Given the description of an element on the screen output the (x, y) to click on. 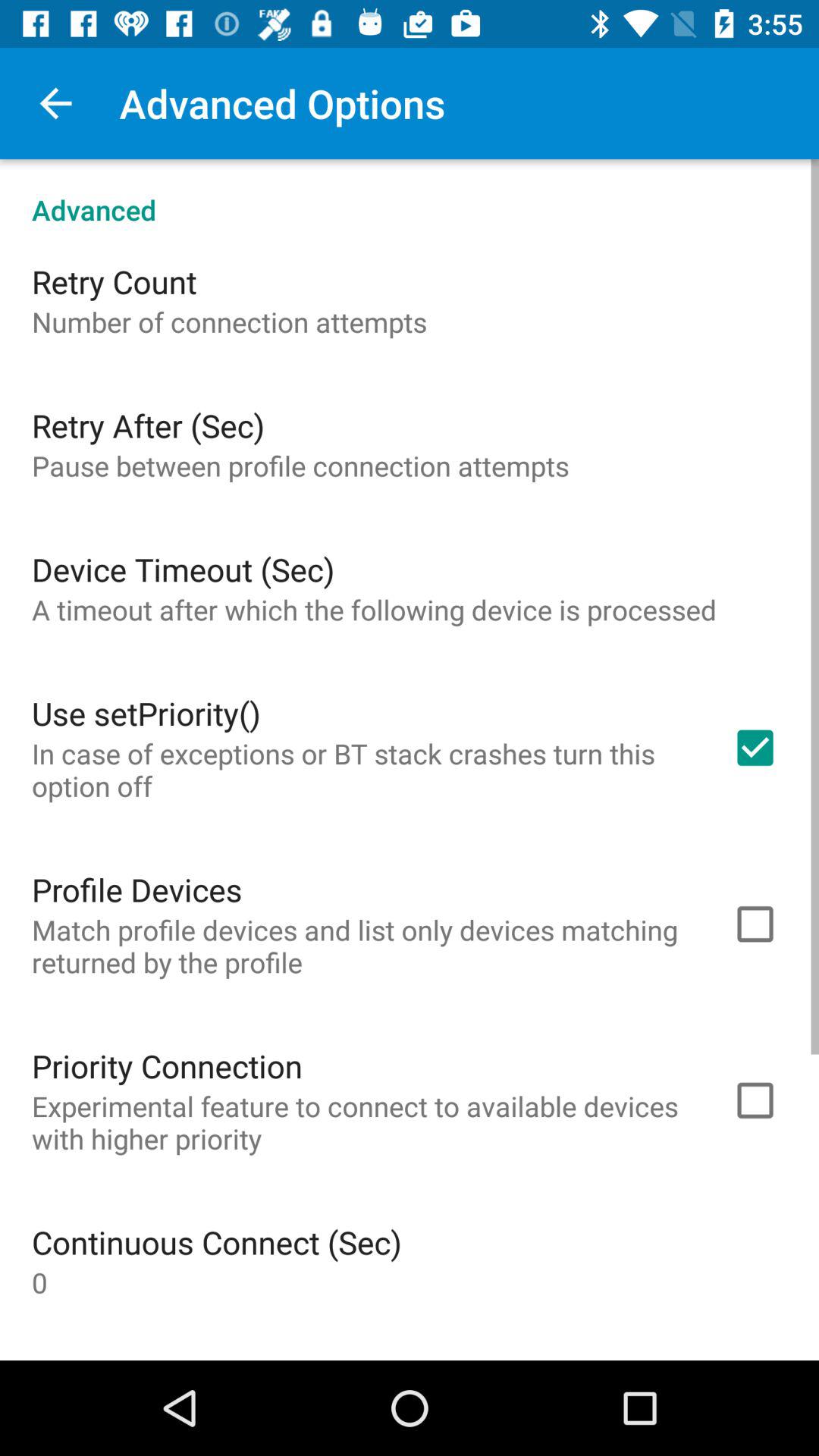
swipe until the in case of (361, 769)
